Given the description of an element on the screen output the (x, y) to click on. 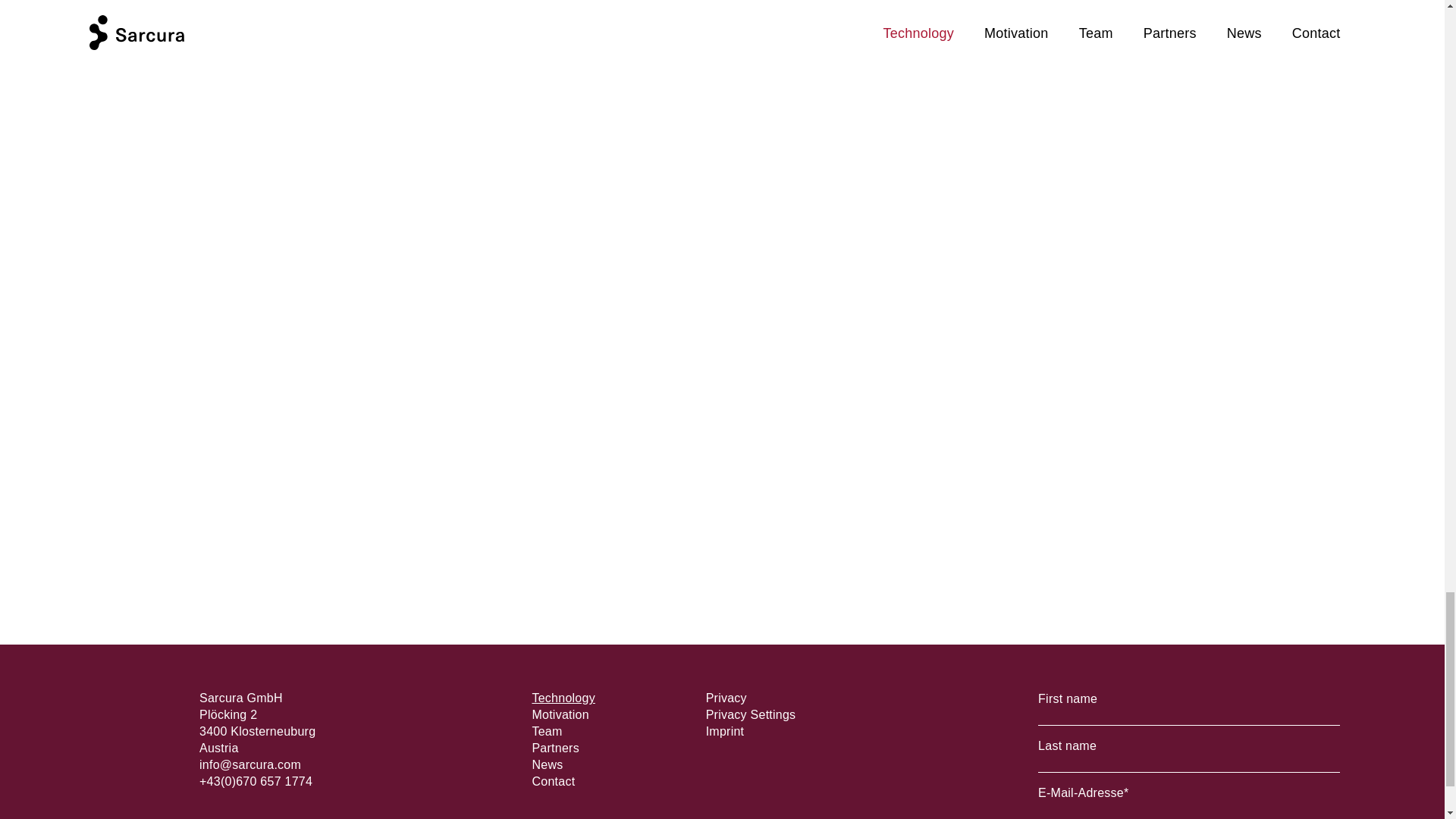
News (546, 764)
Privacy (726, 697)
Motivation (559, 714)
Technology (562, 697)
Team (546, 730)
Partners (554, 748)
Privacy Settings (751, 714)
Imprint (725, 730)
Contact (553, 780)
